Given the description of an element on the screen output the (x, y) to click on. 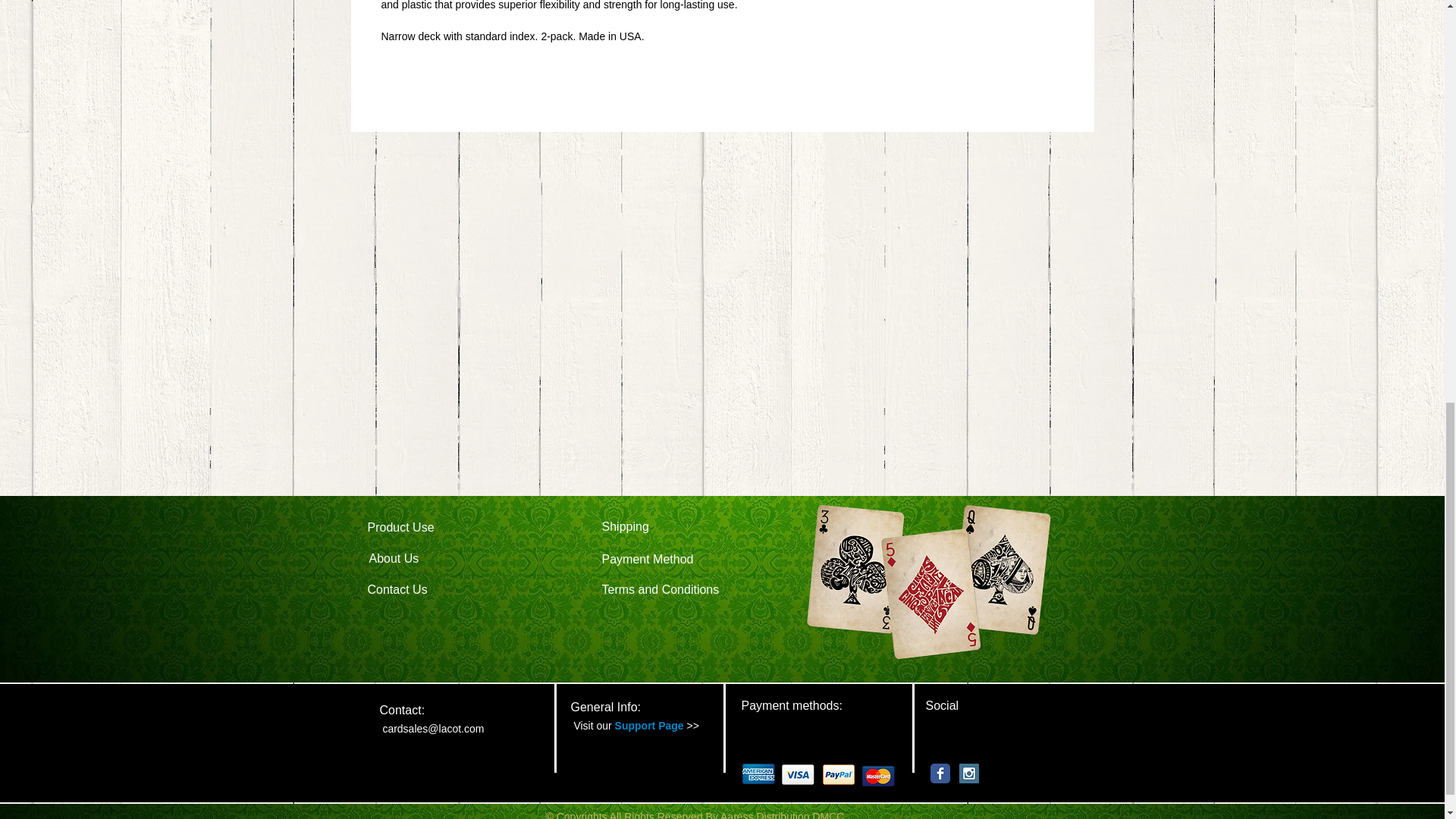
american.png (758, 773)
master.png (878, 775)
paypal.png (839, 774)
visa.png (797, 774)
